Given the description of an element on the screen output the (x, y) to click on. 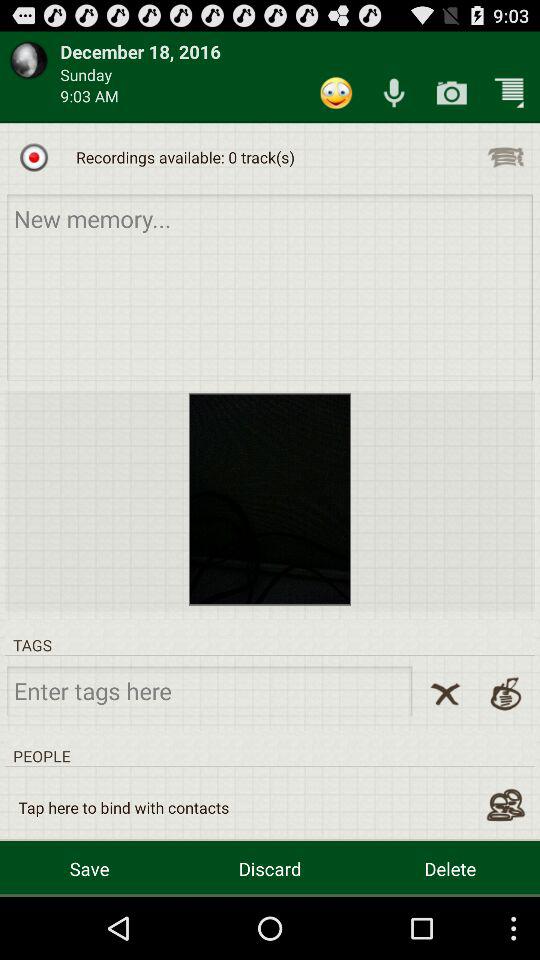
enter tags (209, 690)
